Given the description of an element on the screen output the (x, y) to click on. 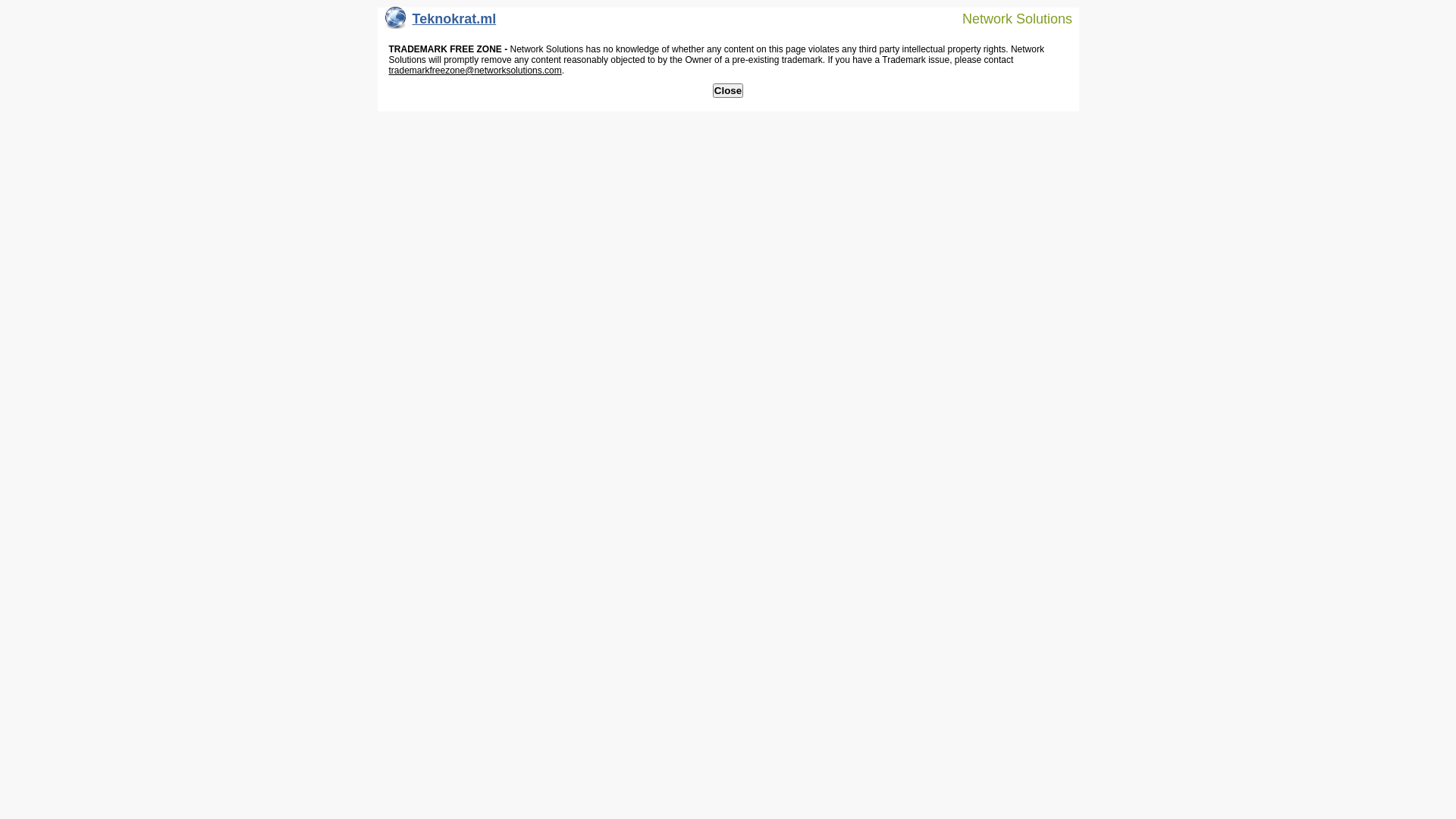
Teknokrat.ml Element type: text (440, 21)
Close Element type: text (727, 90)
trademarkfreezone@networksolutions.com Element type: text (474, 70)
Network Solutions Element type: text (1007, 17)
